Given the description of an element on the screen output the (x, y) to click on. 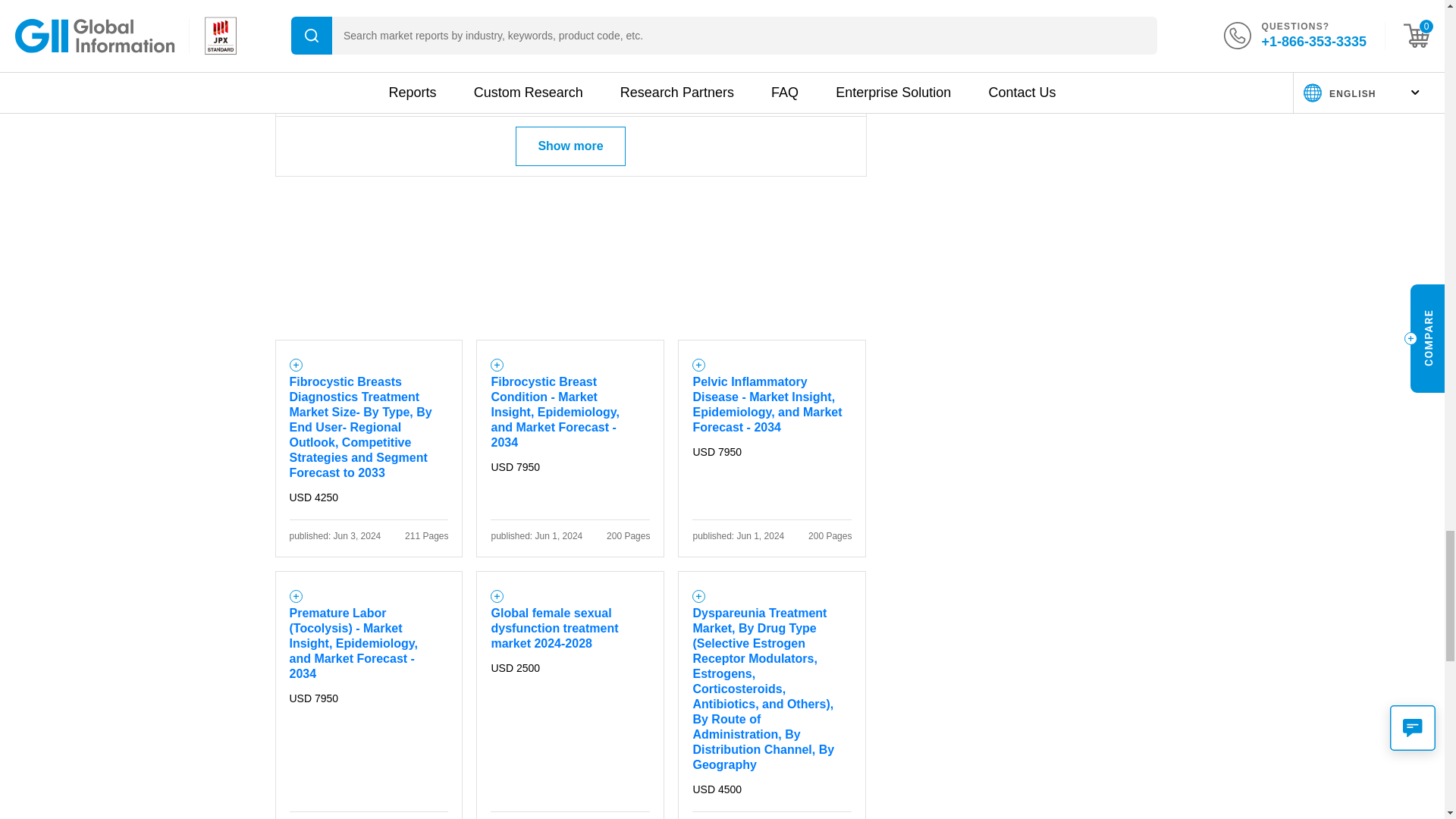
Show more (569, 146)
